Given the description of an element on the screen output the (x, y) to click on. 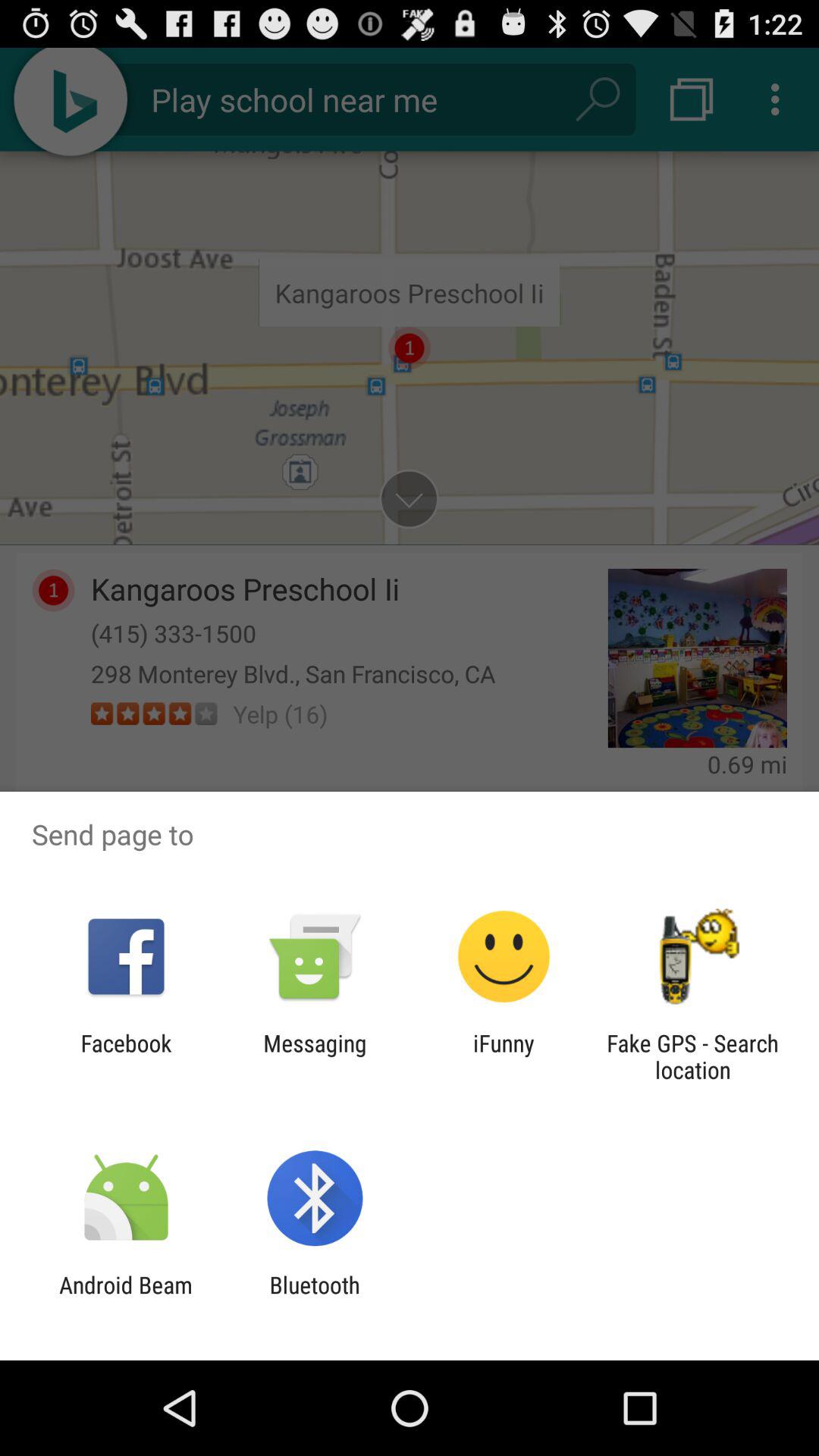
choose the android beam item (125, 1298)
